Given the description of an element on the screen output the (x, y) to click on. 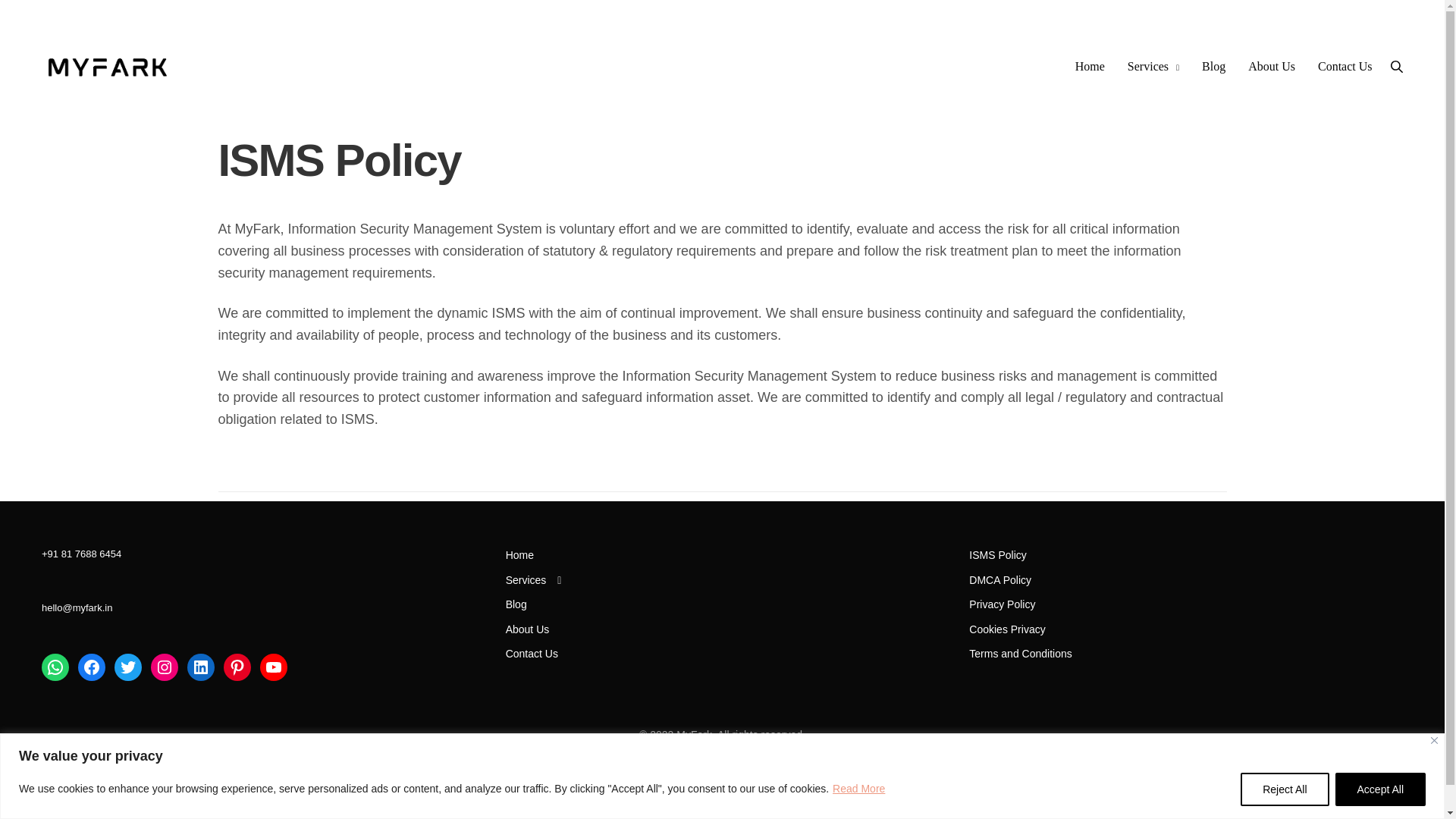
Read More (858, 788)
Services (1152, 66)
Home (519, 554)
Home (1090, 66)
MyFark (107, 66)
Contact Us (1345, 66)
Reject All (1283, 788)
Services (533, 580)
About Us (1271, 66)
Accept All (1380, 788)
Blog (1213, 66)
